Given the description of an element on the screen output the (x, y) to click on. 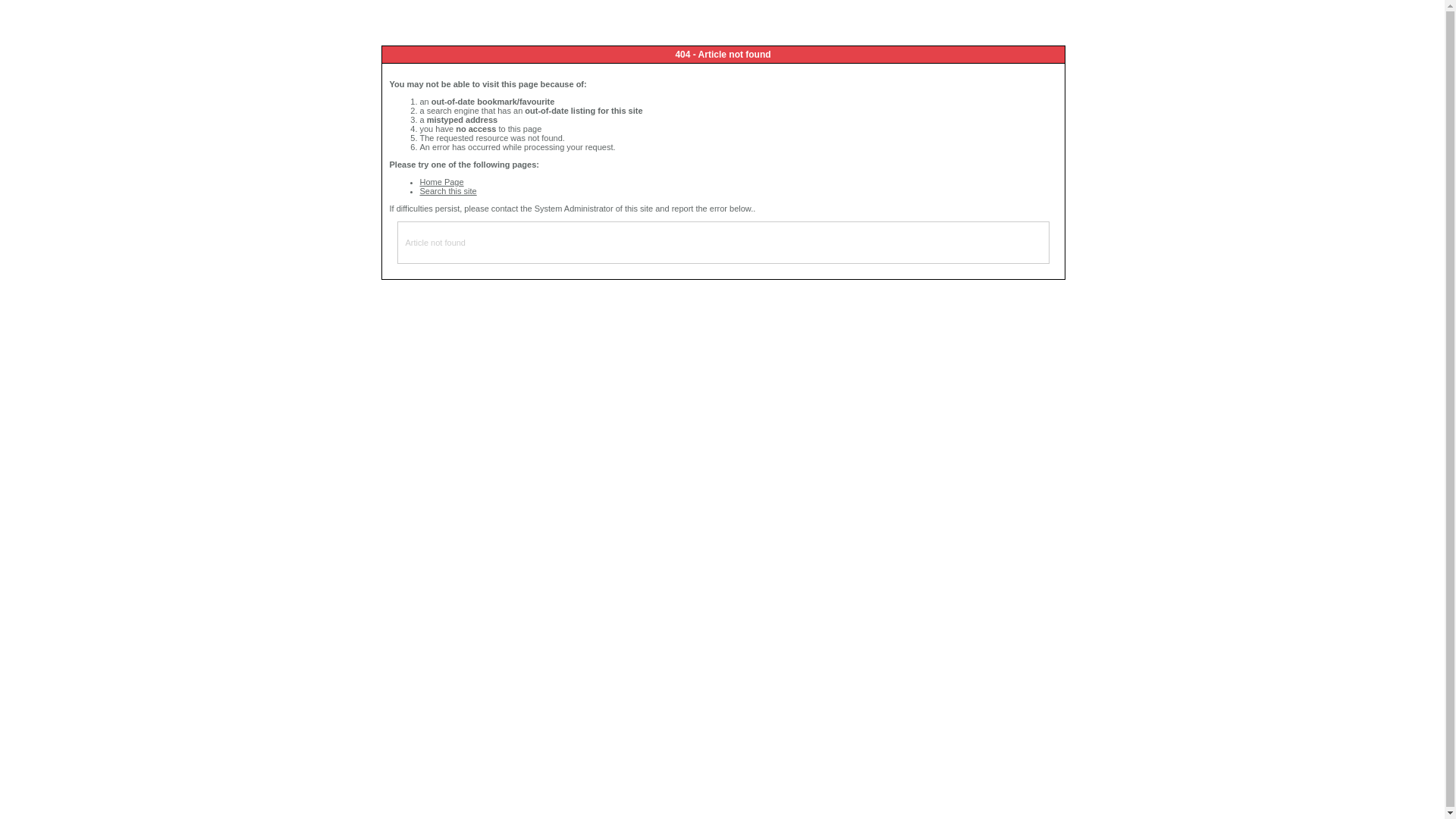
Home Page Element type: text (442, 181)
Search this site Element type: text (448, 190)
